Given the description of an element on the screen output the (x, y) to click on. 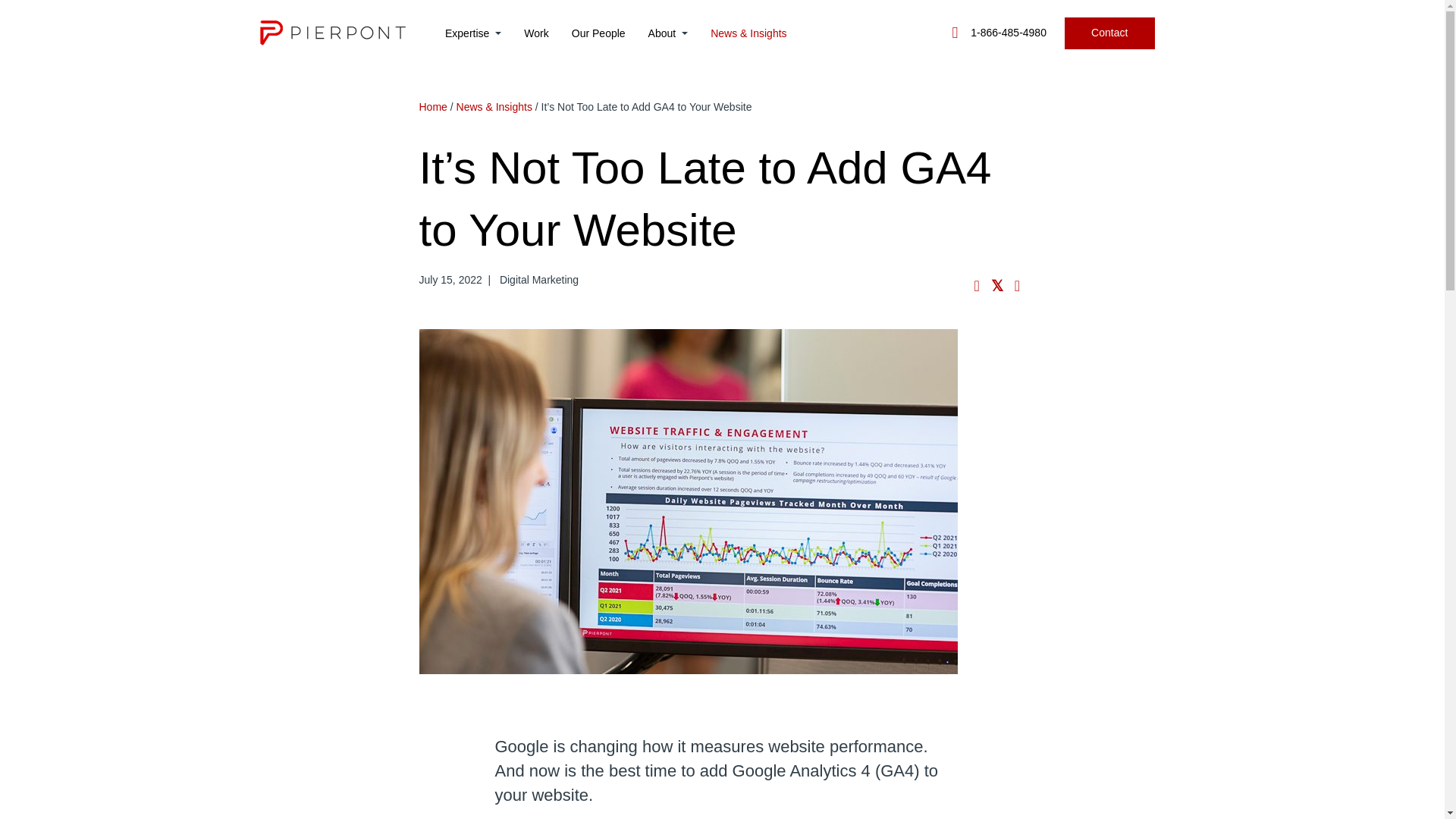
logo  (331, 32)
About (667, 32)
 1-866-485-4980 (999, 32)
Contact (1109, 32)
Expertise (472, 32)
Work (536, 32)
Our People (599, 32)
